Given the description of an element on the screen output the (x, y) to click on. 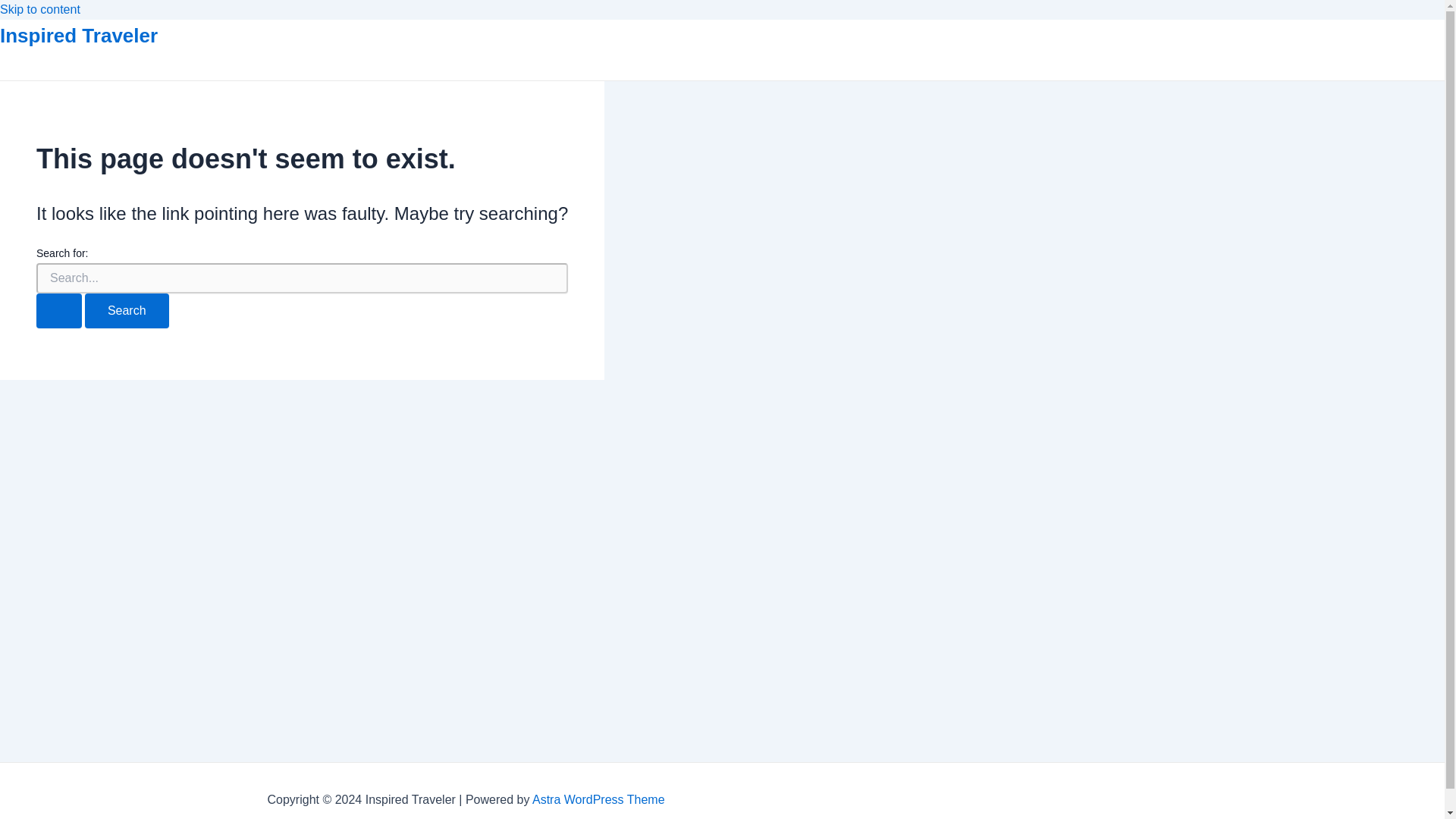
Astra WordPress Theme (598, 799)
Skip to content (40, 9)
Skip to content (40, 9)
Search (126, 310)
Search (126, 310)
Inspired Traveler (78, 35)
Search (126, 310)
